Given the description of an element on the screen output the (x, y) to click on. 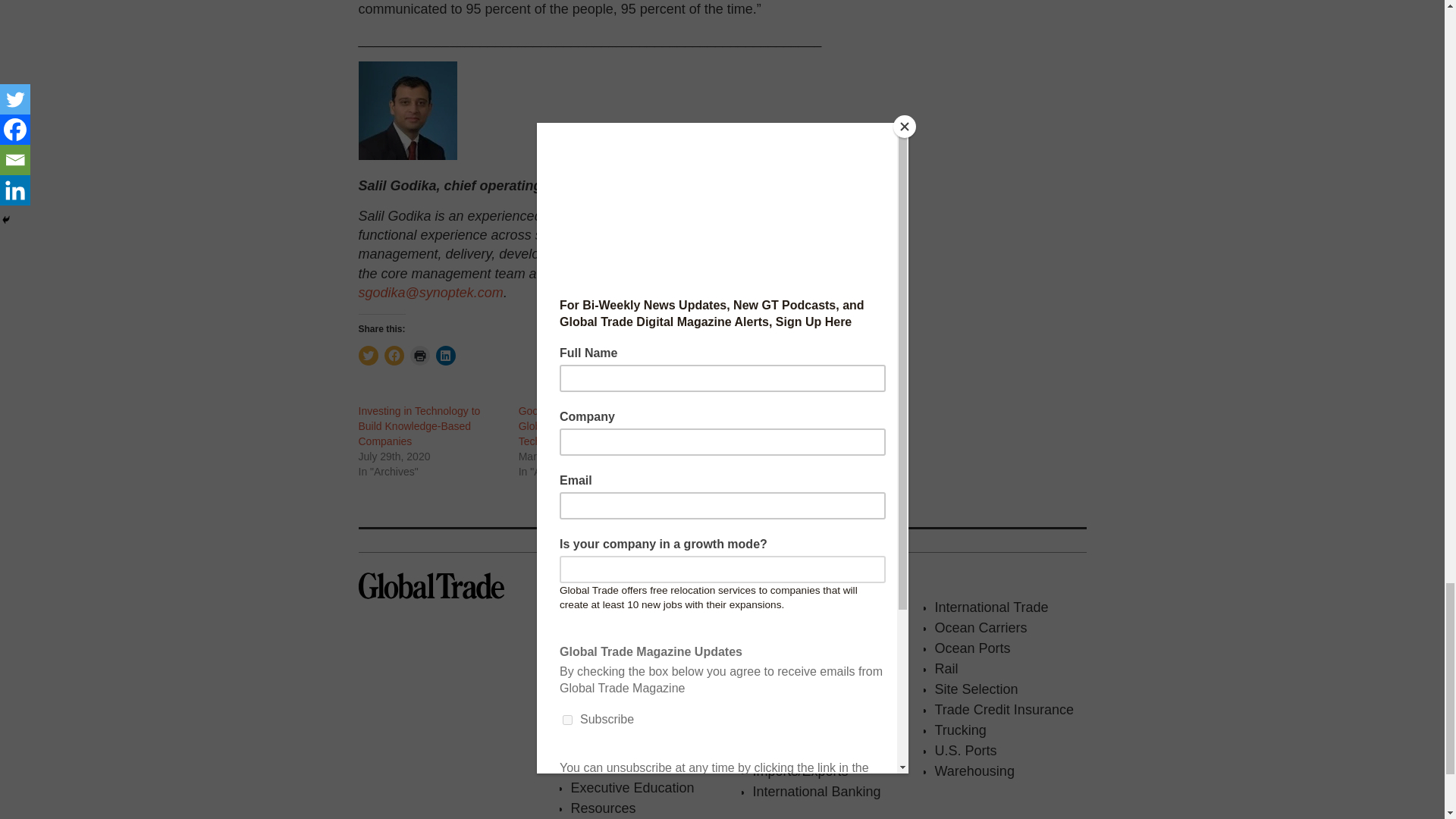
Click to share on LinkedIn (444, 355)
Click to share on Facebook (393, 355)
Click to print (419, 355)
Investing in Technology to Build Knowledge-Based Companies (419, 425)
Click to share on Twitter (367, 355)
